Given the description of an element on the screen output the (x, y) to click on. 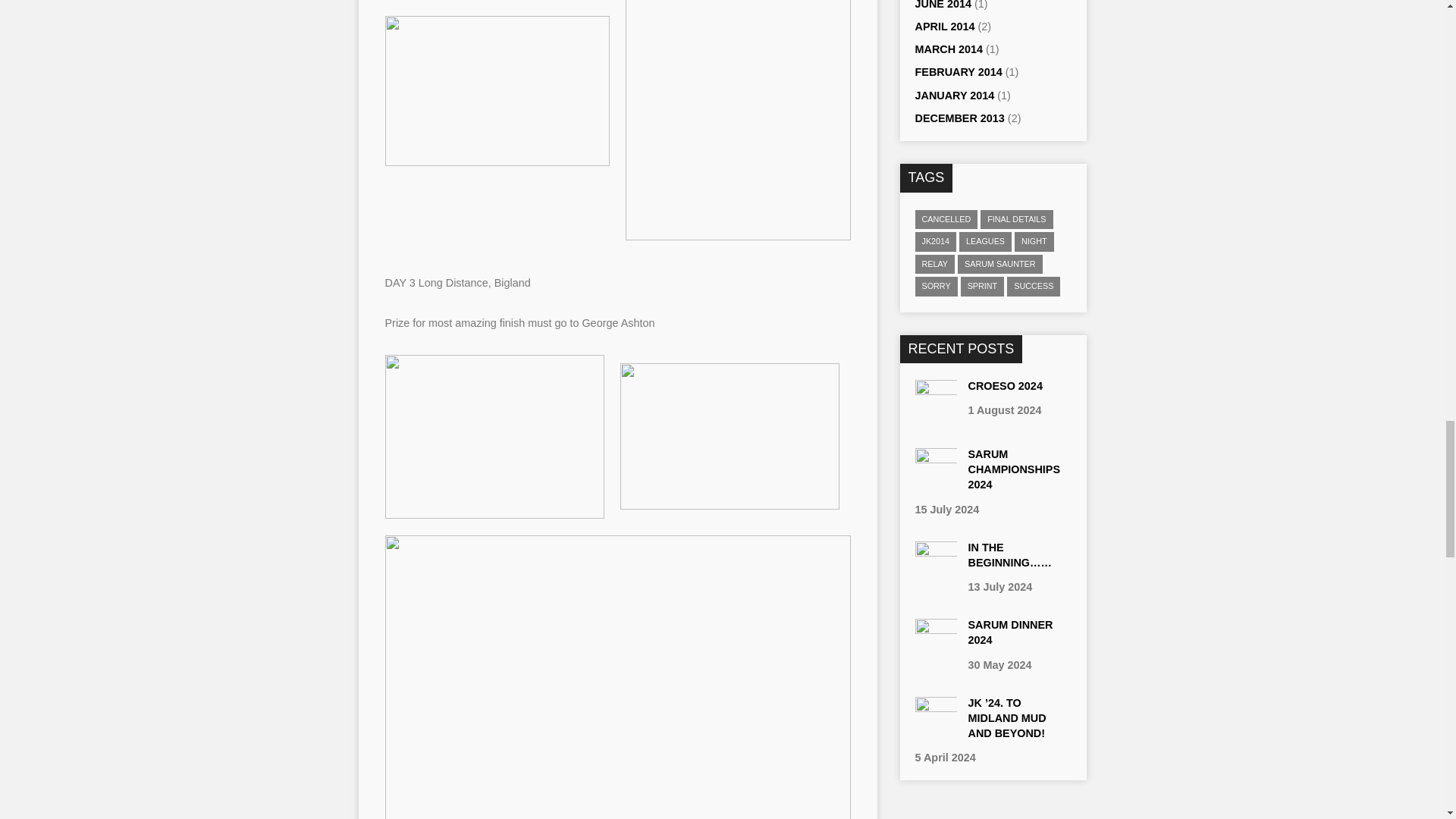
Sarum Championships 2024 (1013, 468)
SARUM DINNER 2024 (935, 653)
Sarum Championships 2024 (935, 481)
Croeso 2024 (935, 413)
Croeso 2024 (1005, 386)
SARUM DINNER 2024 (1010, 632)
